Given the description of an element on the screen output the (x, y) to click on. 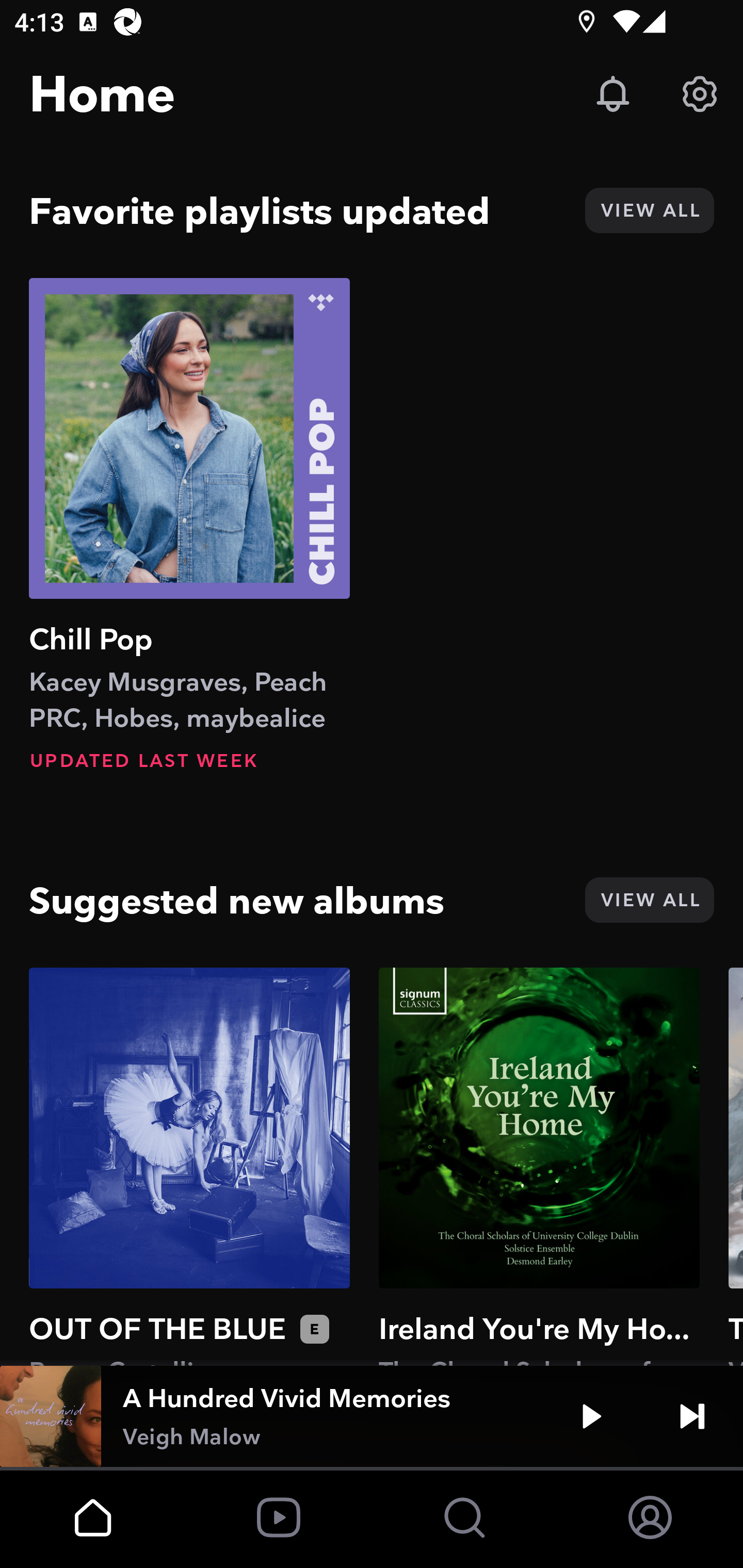
Updates (612, 93)
Settings (699, 93)
VIEW ALL (649, 210)
VIEW ALL (649, 899)
OUT OF THE BLUE Brynn Cartelli (188, 1166)
A Hundred Vivid Memories Veigh Malow Play (371, 1416)
Play (590, 1416)
